Given the description of an element on the screen output the (x, y) to click on. 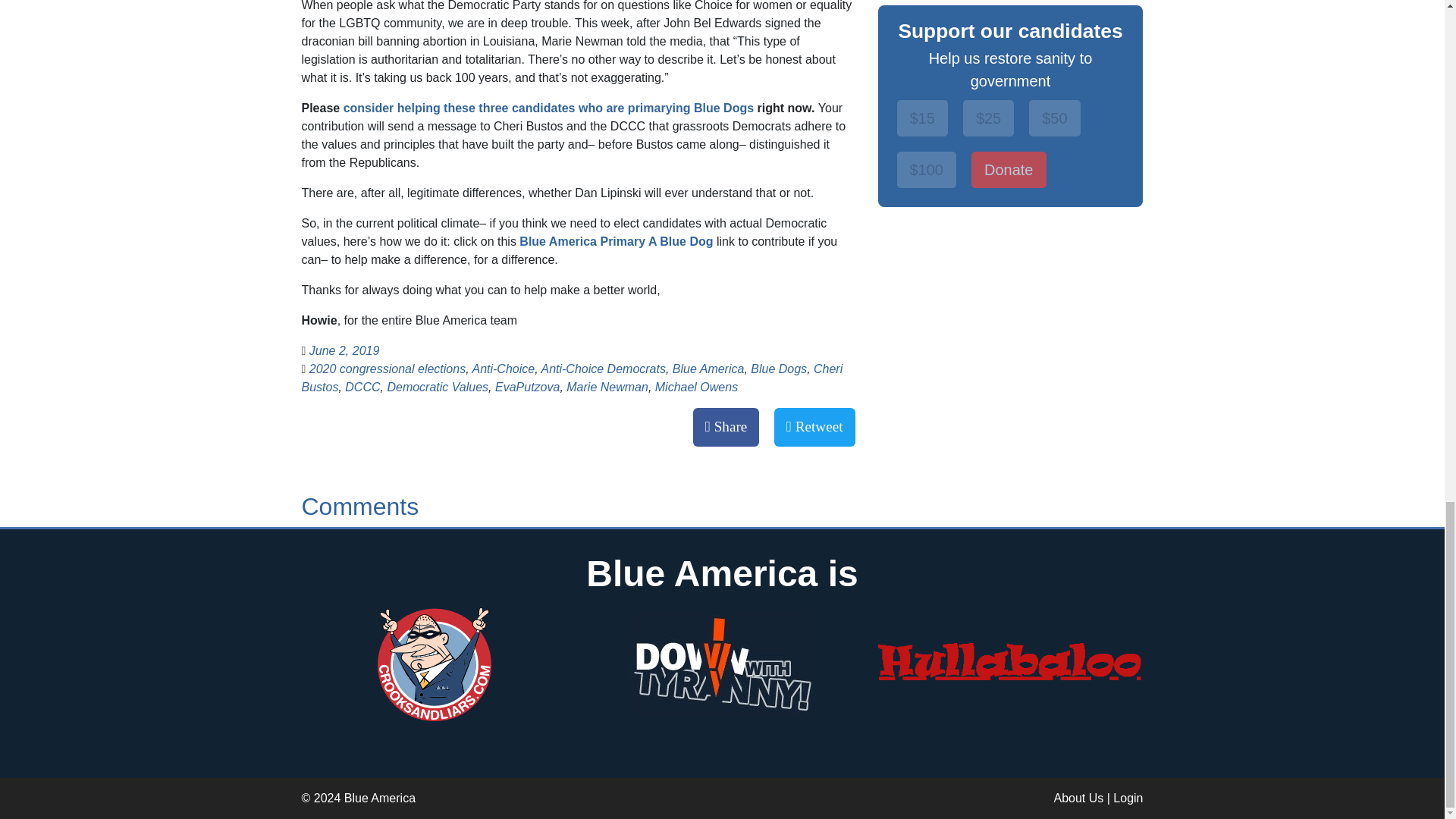
Blue Dogs (778, 368)
Blue America (708, 368)
EvaPutzova (527, 386)
DCCC (362, 386)
2020 congressional elections (386, 368)
Share on Facebook (726, 426)
Cheri Bustos (572, 377)
Anti-Choice (502, 368)
Blue America Primary A Blue Dog (616, 241)
Michael Owens (696, 386)
June 2, 2019 (344, 350)
Retweet (815, 426)
Marie Newman (606, 386)
Anti-Choice Democrats (602, 368)
